Given the description of an element on the screen output the (x, y) to click on. 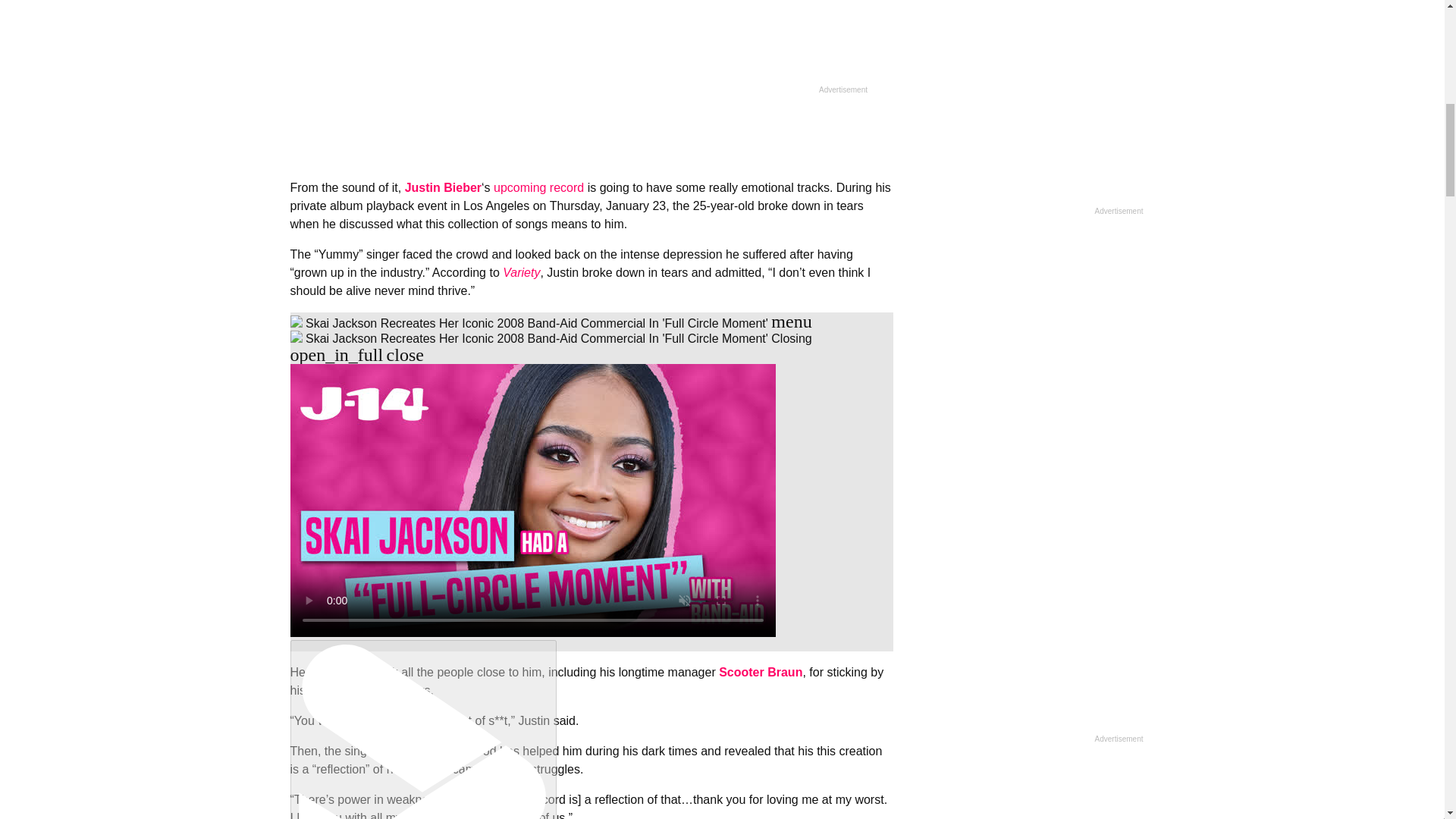
Variety (521, 272)
Justin Bieber (442, 187)
3rd party ad content (1028, 343)
3rd party ad content (1028, 107)
3rd party ad content (591, 47)
Scooter Braun (760, 671)
upcoming record (538, 187)
